Given the description of an element on the screen output the (x, y) to click on. 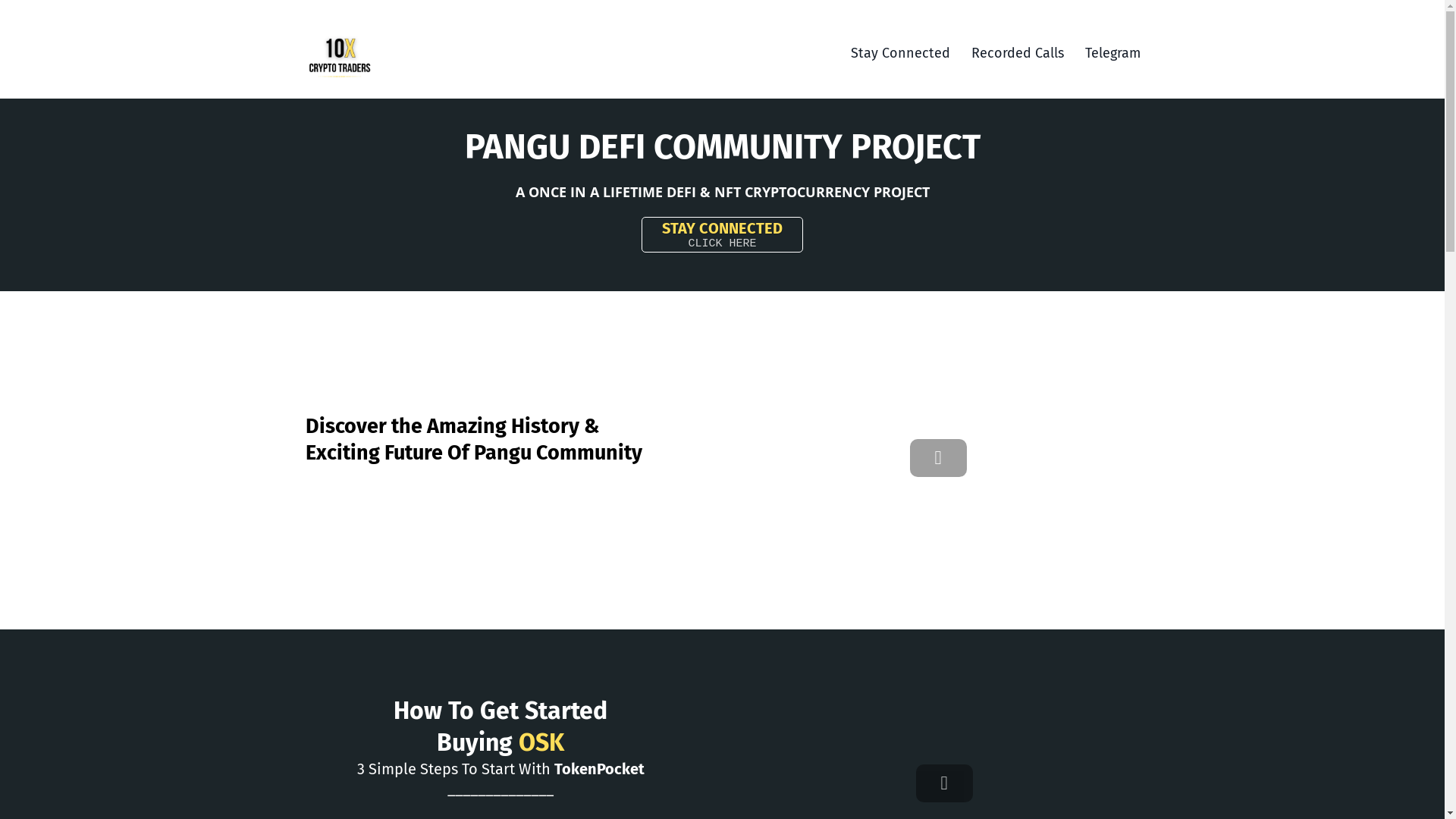
STAY CONNECTED
CLICK HERE Element type: text (722, 234)
Telegram Element type: text (1111, 53)
Stay Connected Element type: text (900, 53)
OSK Element type: text (541, 742)
Recorded Calls Element type: text (1016, 53)
